Given the description of an element on the screen output the (x, y) to click on. 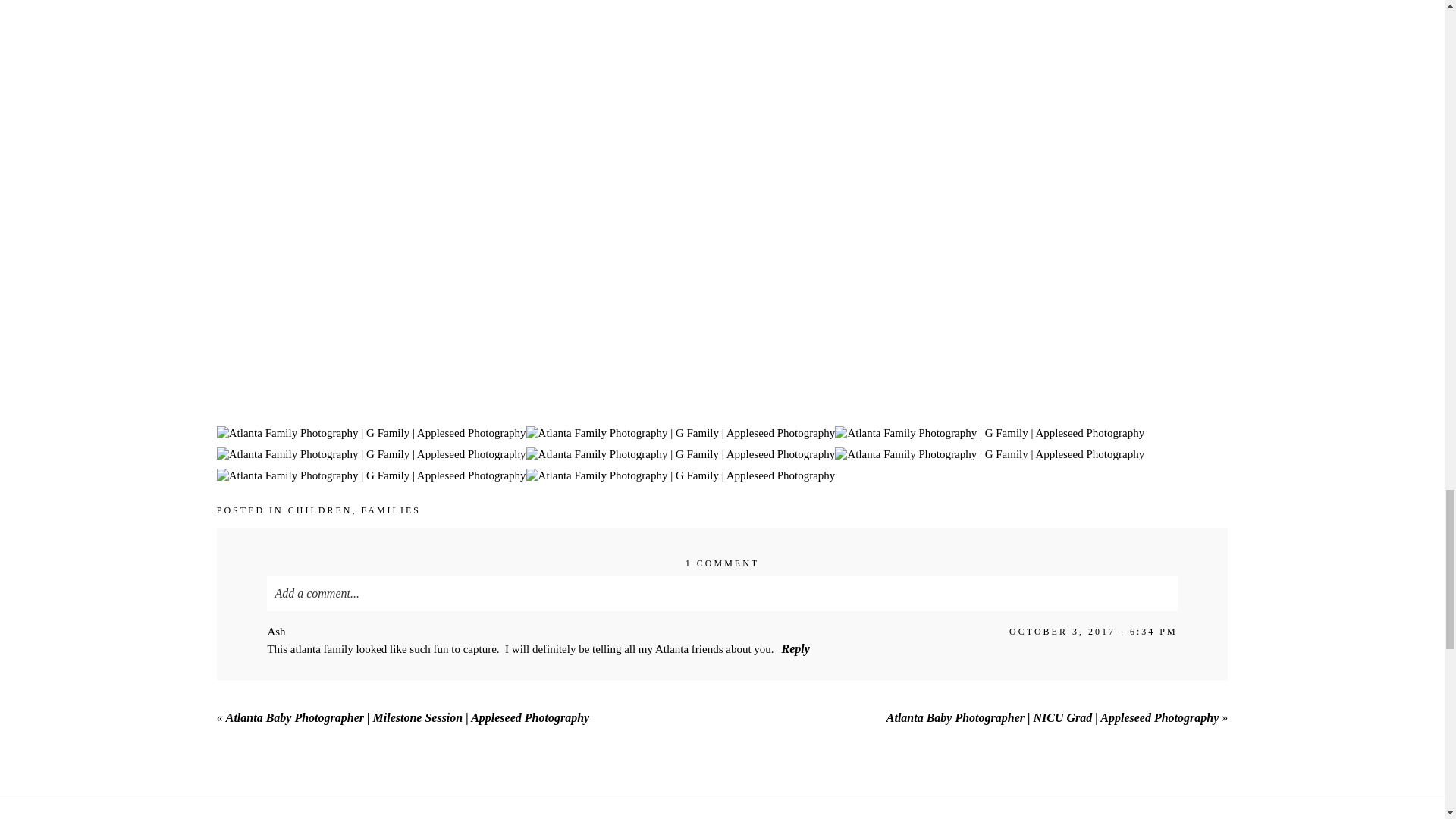
Reply (795, 648)
CHILDREN (320, 510)
FAMILIES (390, 510)
